Given the description of an element on the screen output the (x, y) to click on. 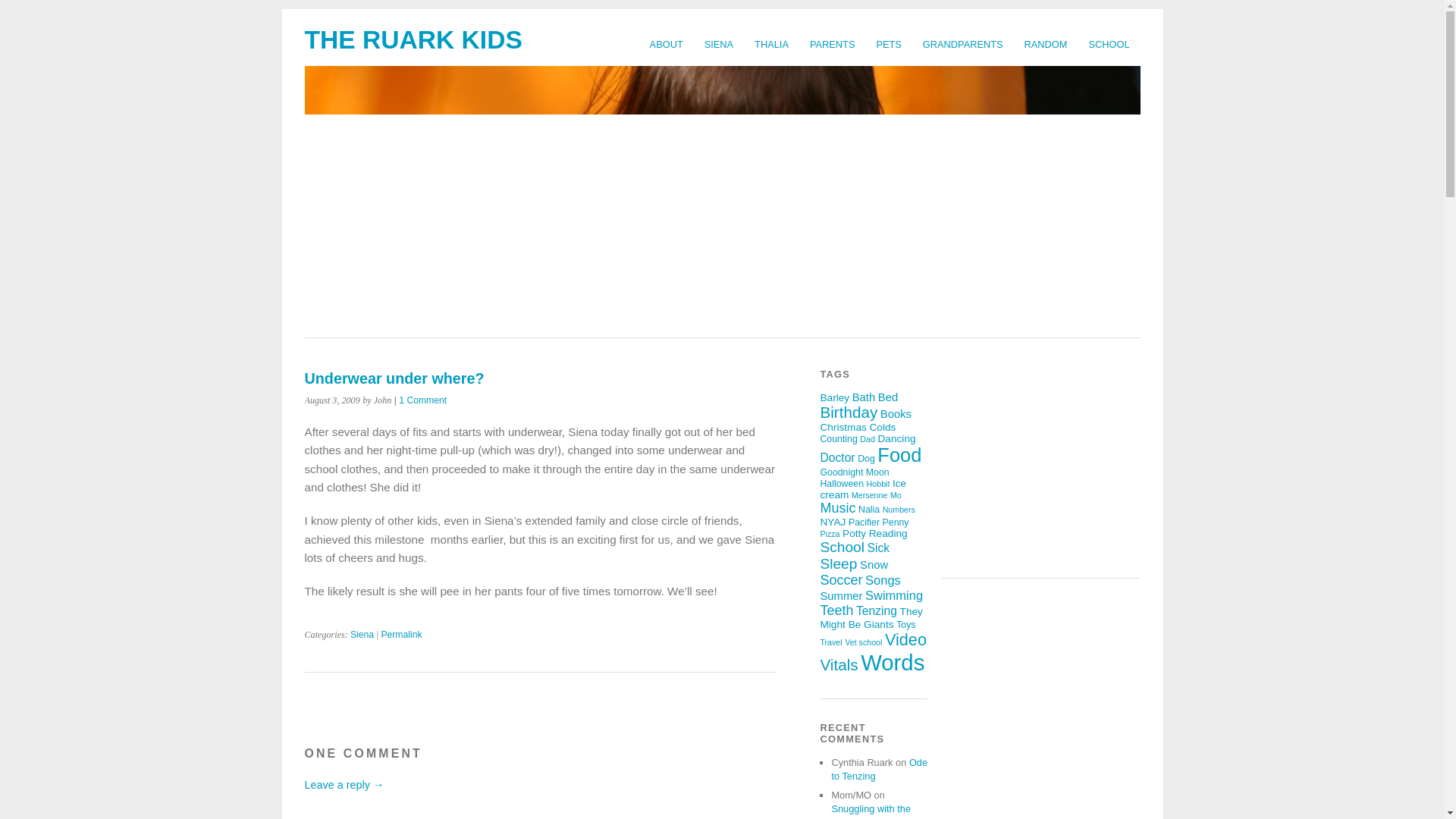
The Ruark Kids (413, 39)
Numbers (898, 509)
Mersenne (868, 494)
Goodnight Moon (853, 471)
1 Comment (422, 399)
Counting (838, 439)
Bath (863, 397)
Siena (362, 634)
Mo (895, 494)
PARENTS (832, 43)
RANDOM (1045, 43)
Colds (882, 427)
SIENA (719, 43)
ABOUT (666, 43)
Christmas (842, 427)
